Given the description of an element on the screen output the (x, y) to click on. 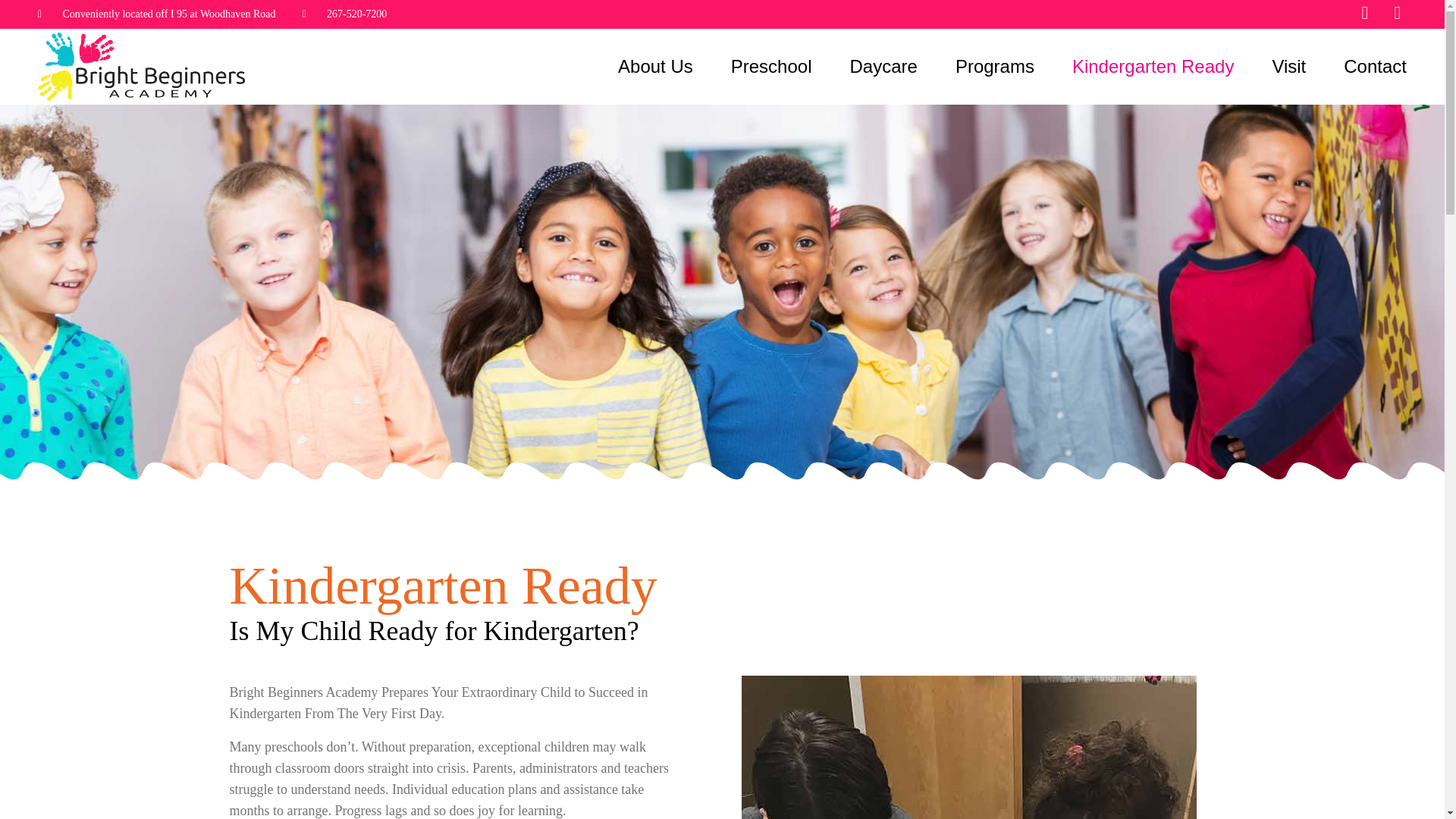
Programs (994, 66)
Contact (1374, 66)
Visit (1288, 66)
Daycare (882, 66)
Preschool (771, 66)
Kindergarten Ready (1152, 66)
267-520-7200 (344, 14)
About Us (655, 66)
